Given the description of an element on the screen output the (x, y) to click on. 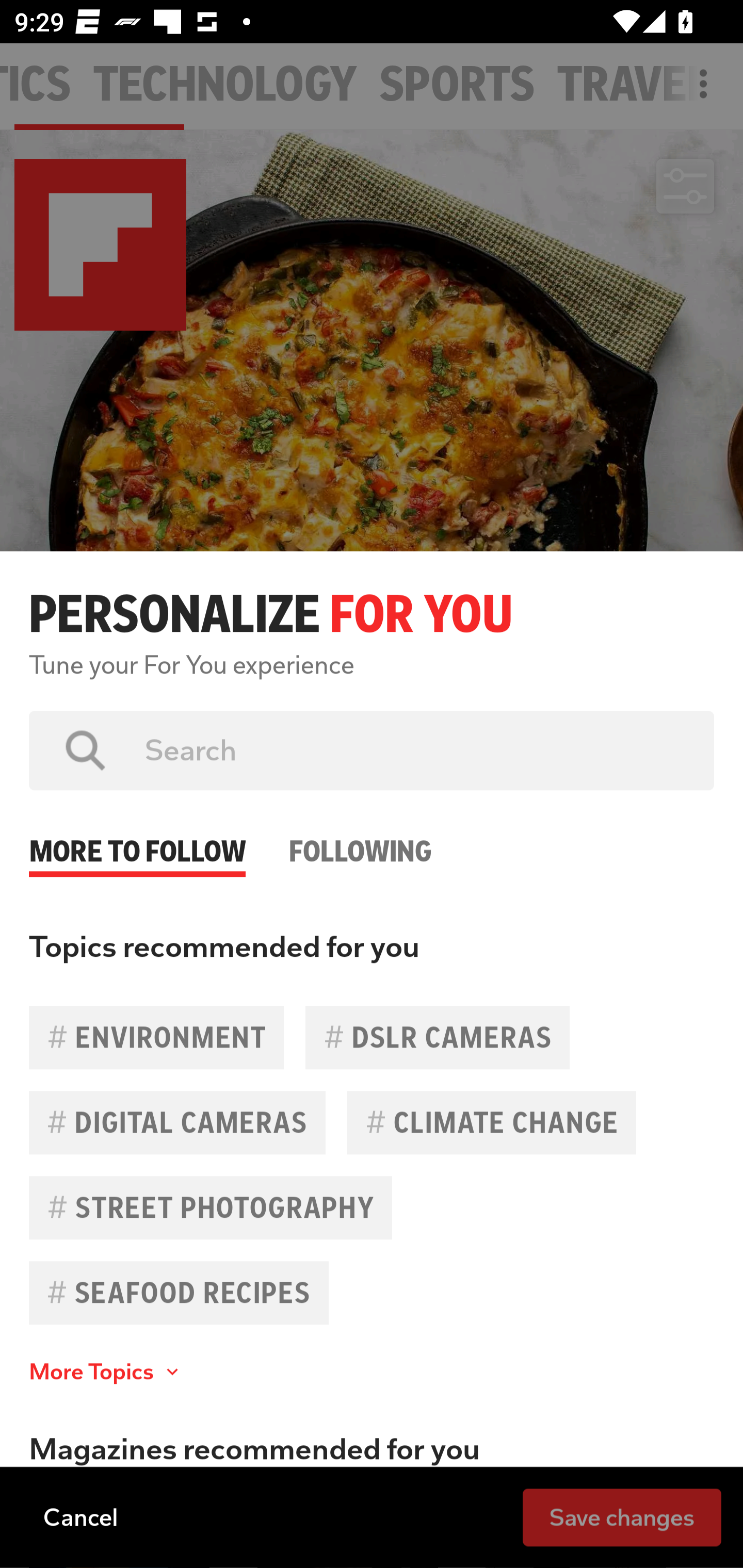
Search (414, 750)
Following FOLLOWING (360, 833)
# ENVIRONMENT (155, 1037)
# DSLR CAMERAS (437, 1037)
# DIGITAL CAMERAS (176, 1122)
# CLIMATE CHANGE (491, 1122)
# STREET PHOTOGRAPHY (210, 1207)
# SEAFOOD RECIPES (178, 1292)
More Topics (105, 1371)
Cancel (80, 1516)
Save changes (621, 1517)
